Given the description of an element on the screen output the (x, y) to click on. 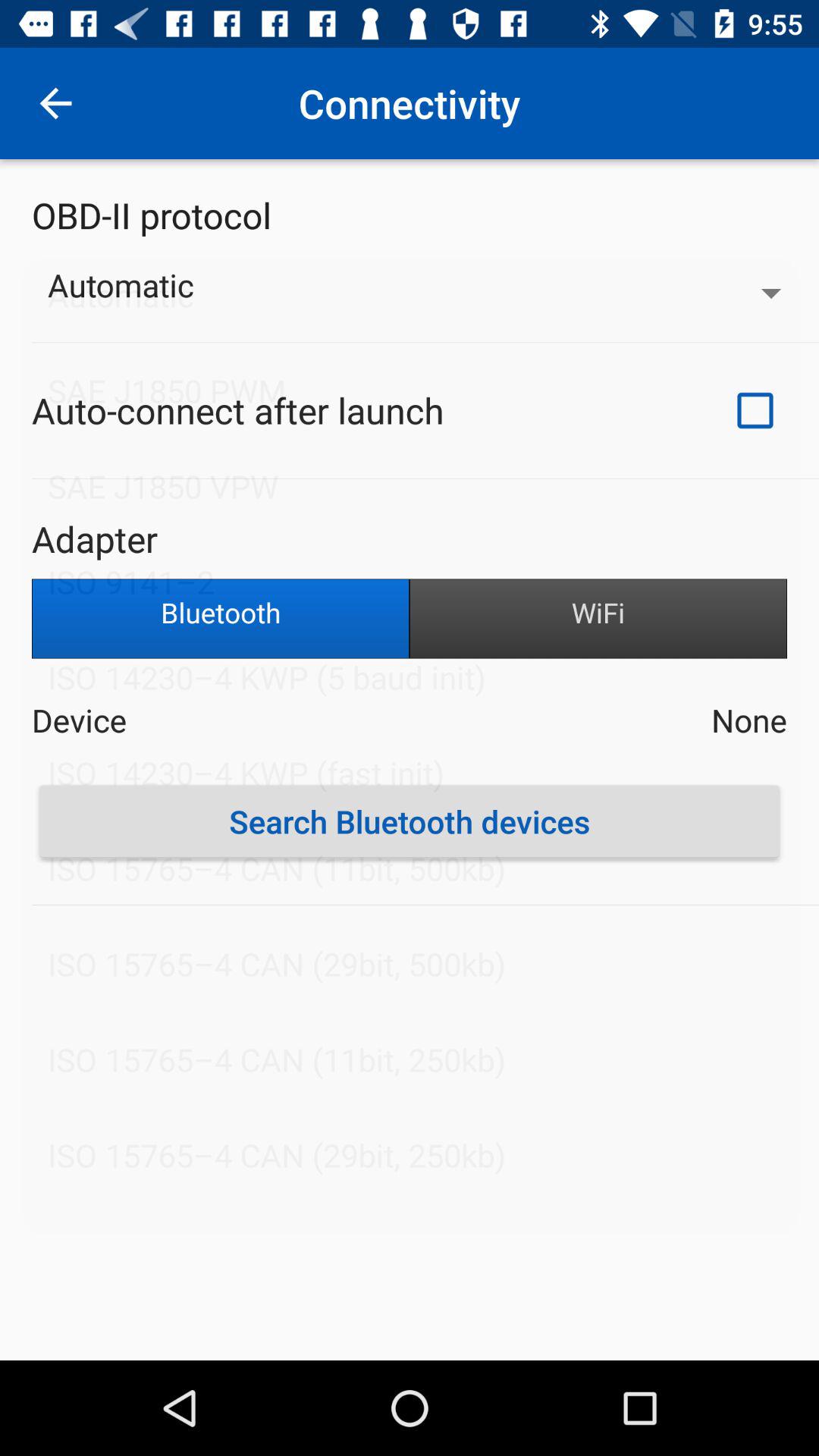
check box auto connect after launch (755, 410)
